Given the description of an element on the screen output the (x, y) to click on. 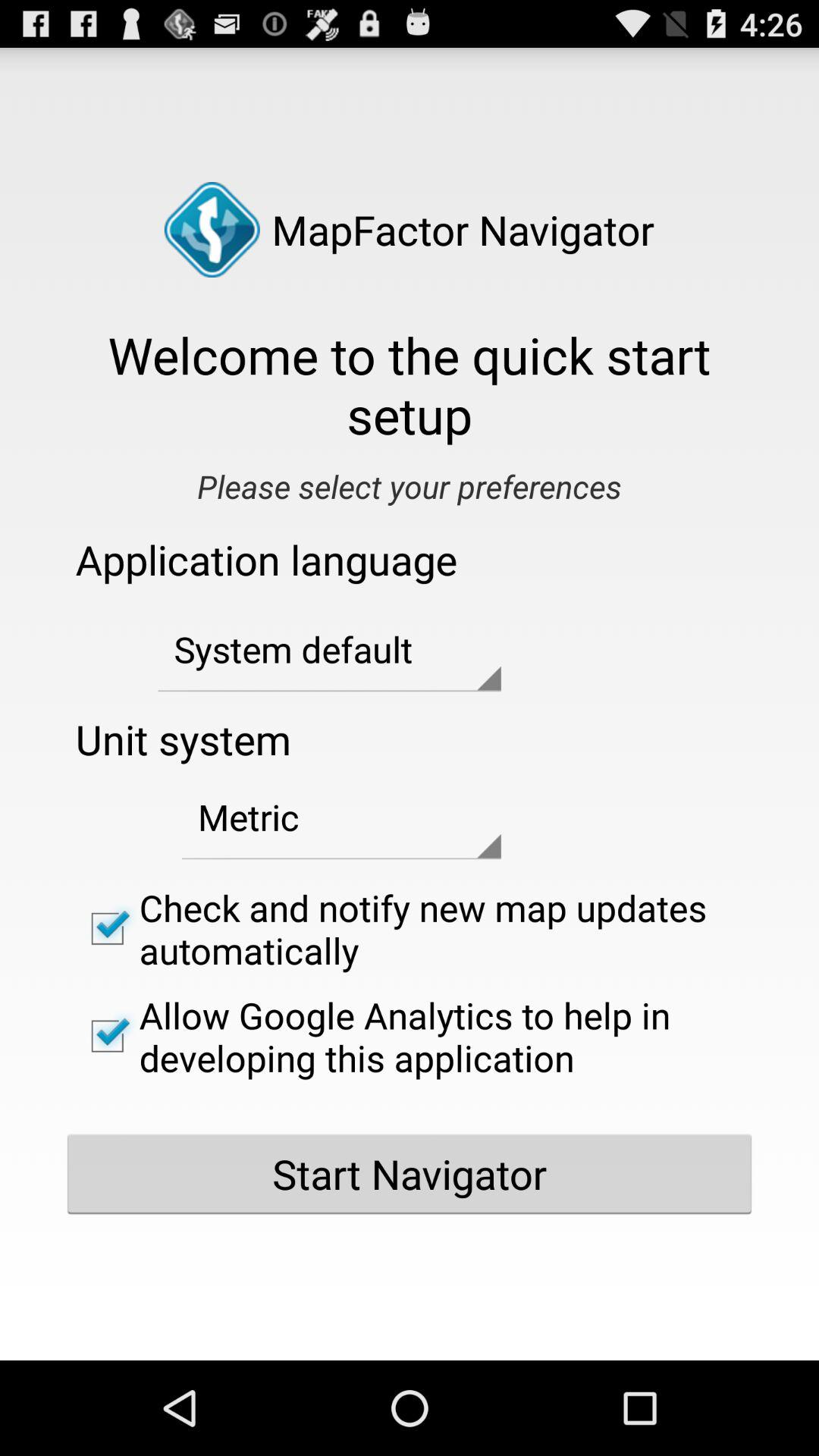
flip to the start navigator button (409, 1173)
